Given the description of an element on the screen output the (x, y) to click on. 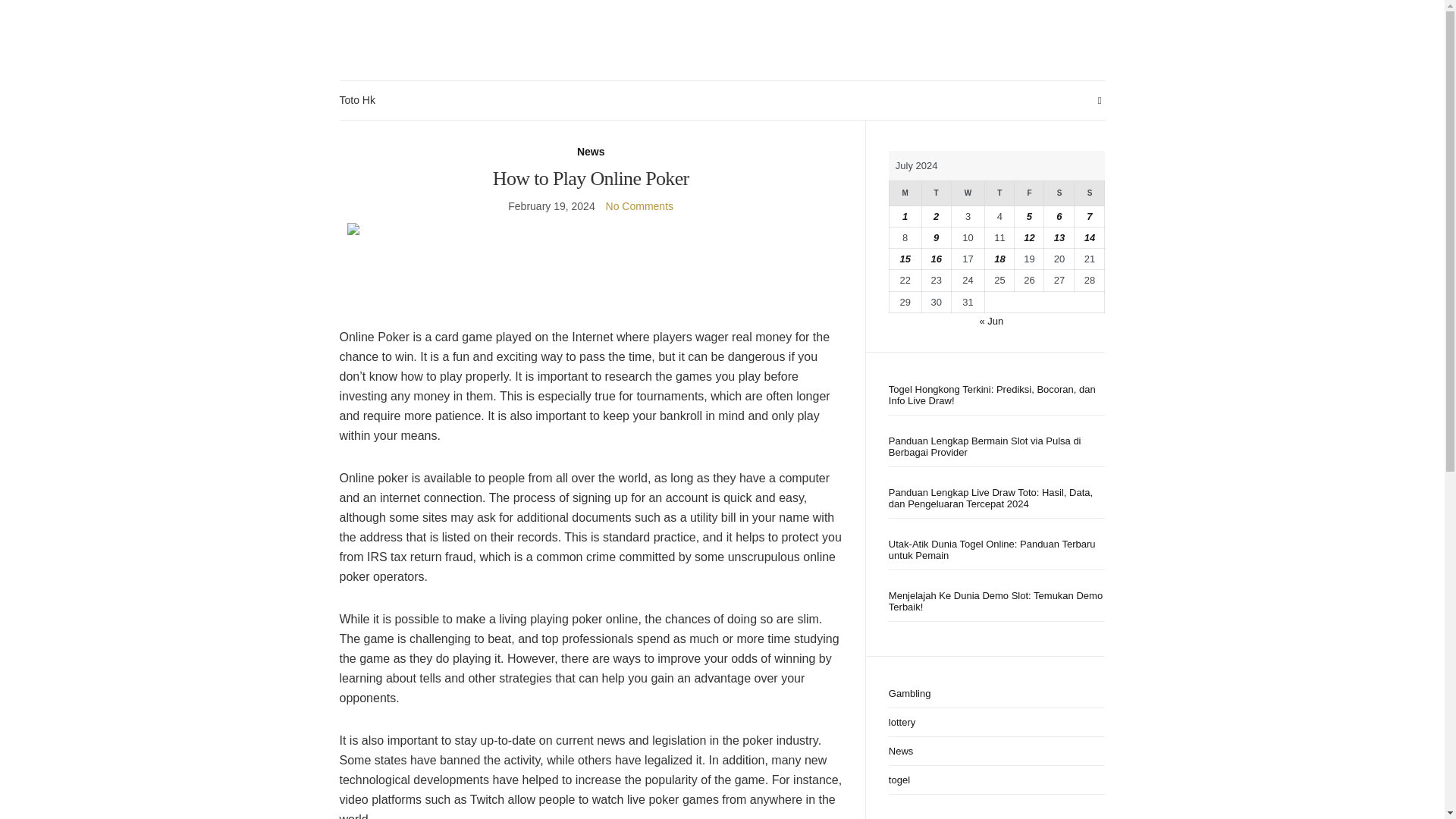
Menjelajah Ke Dunia Demo Slot: Temukan Demo Terbaik! (996, 601)
Sunday (1089, 192)
9 (936, 237)
Utak-Atik Dunia Togel Online: Panduan Terbaru untuk Pemain (996, 549)
5 (1029, 215)
Monday (904, 192)
6 (1059, 215)
14 (1089, 237)
Toto Hk (357, 99)
2 (936, 215)
Friday (1028, 192)
18 (999, 258)
1 (904, 215)
16 (935, 258)
